Given the description of an element on the screen output the (x, y) to click on. 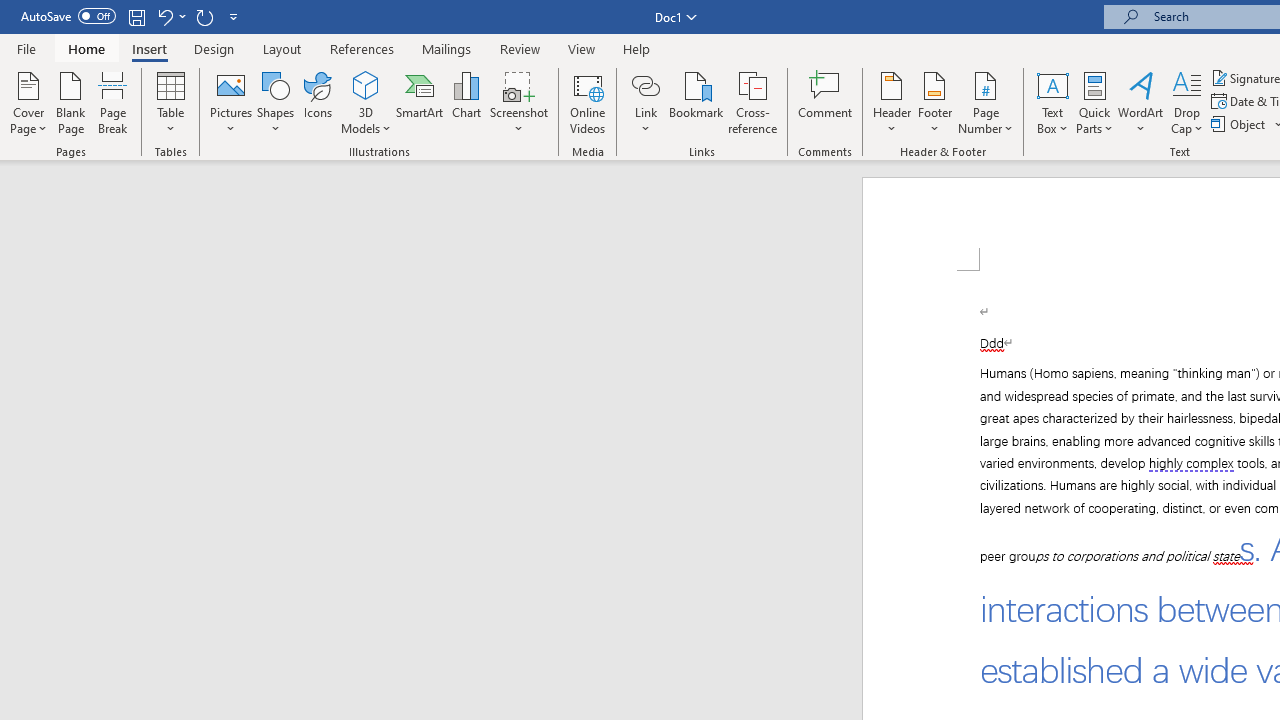
Link (645, 102)
